Given the description of an element on the screen output the (x, y) to click on. 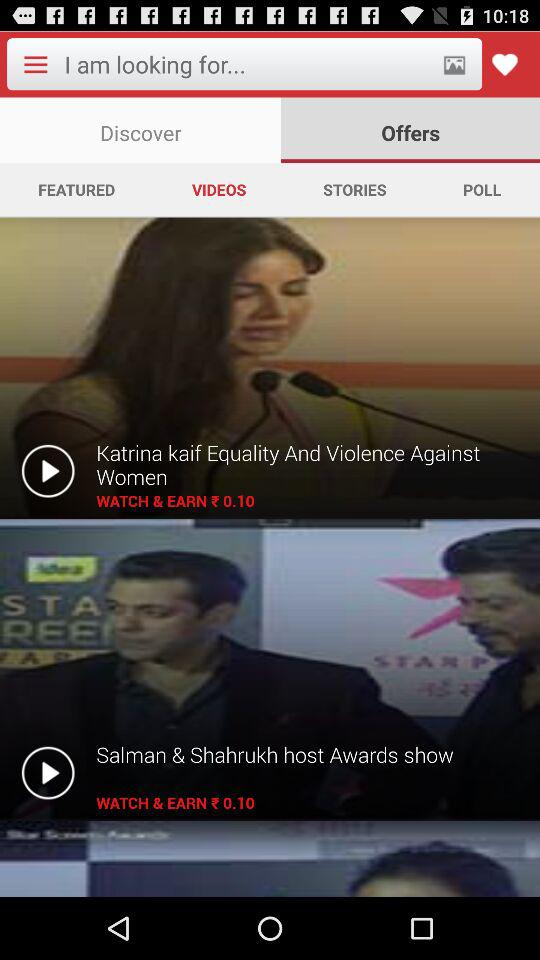
click icon next to the stories item (482, 189)
